Given the description of an element on the screen output the (x, y) to click on. 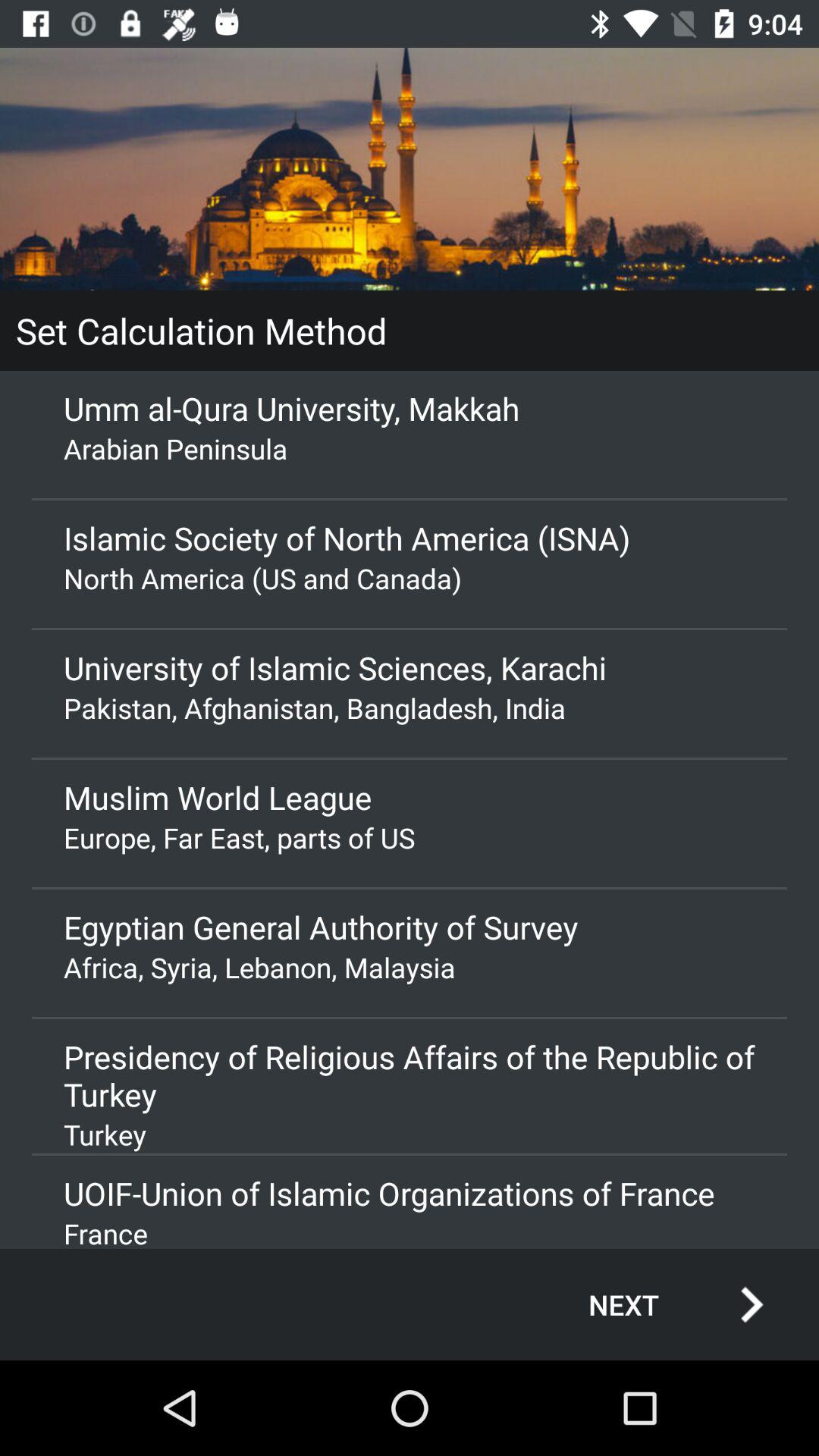
flip to pakistan afghanistan bangladesh item (409, 707)
